Given the description of an element on the screen output the (x, y) to click on. 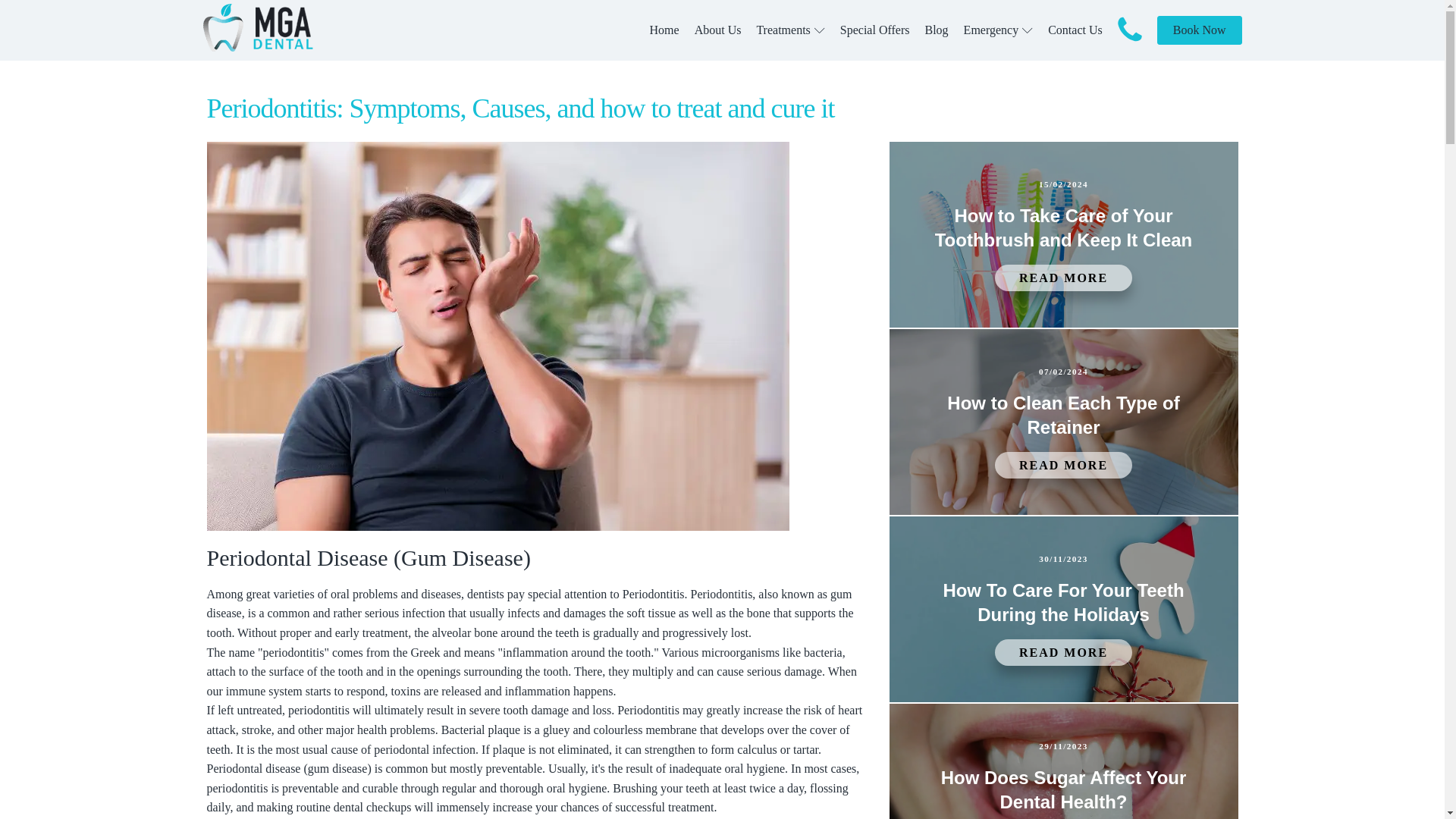
Contact Us (1075, 29)
Treatments (789, 29)
Emergency (998, 29)
MGA Dental (258, 30)
Special Offers (875, 29)
